Given the description of an element on the screen output the (x, y) to click on. 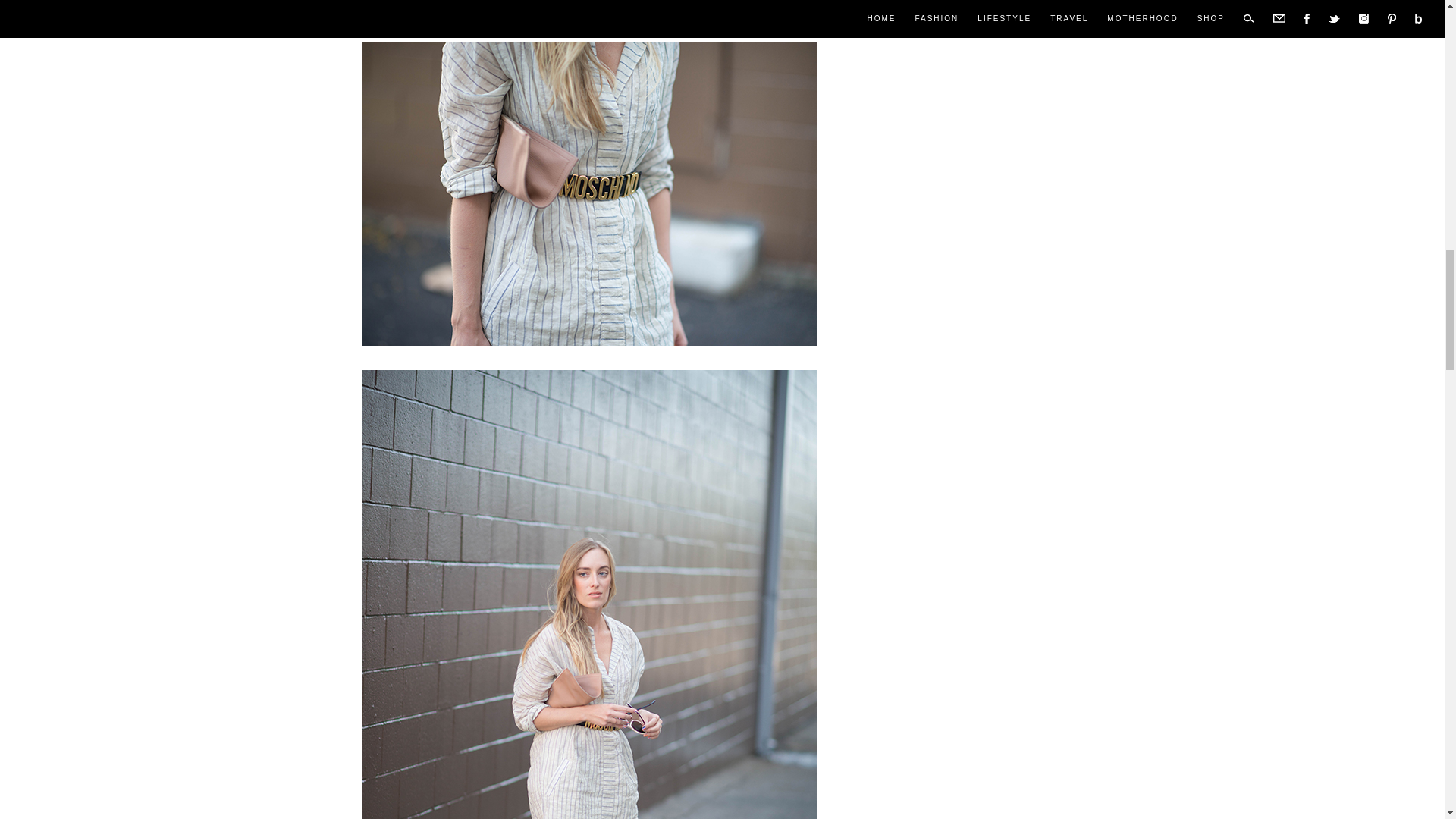
eatsleepwear, odells, givenchy, chanel, kenneth-cole, 1 (589, 8)
